Given the description of an element on the screen output the (x, y) to click on. 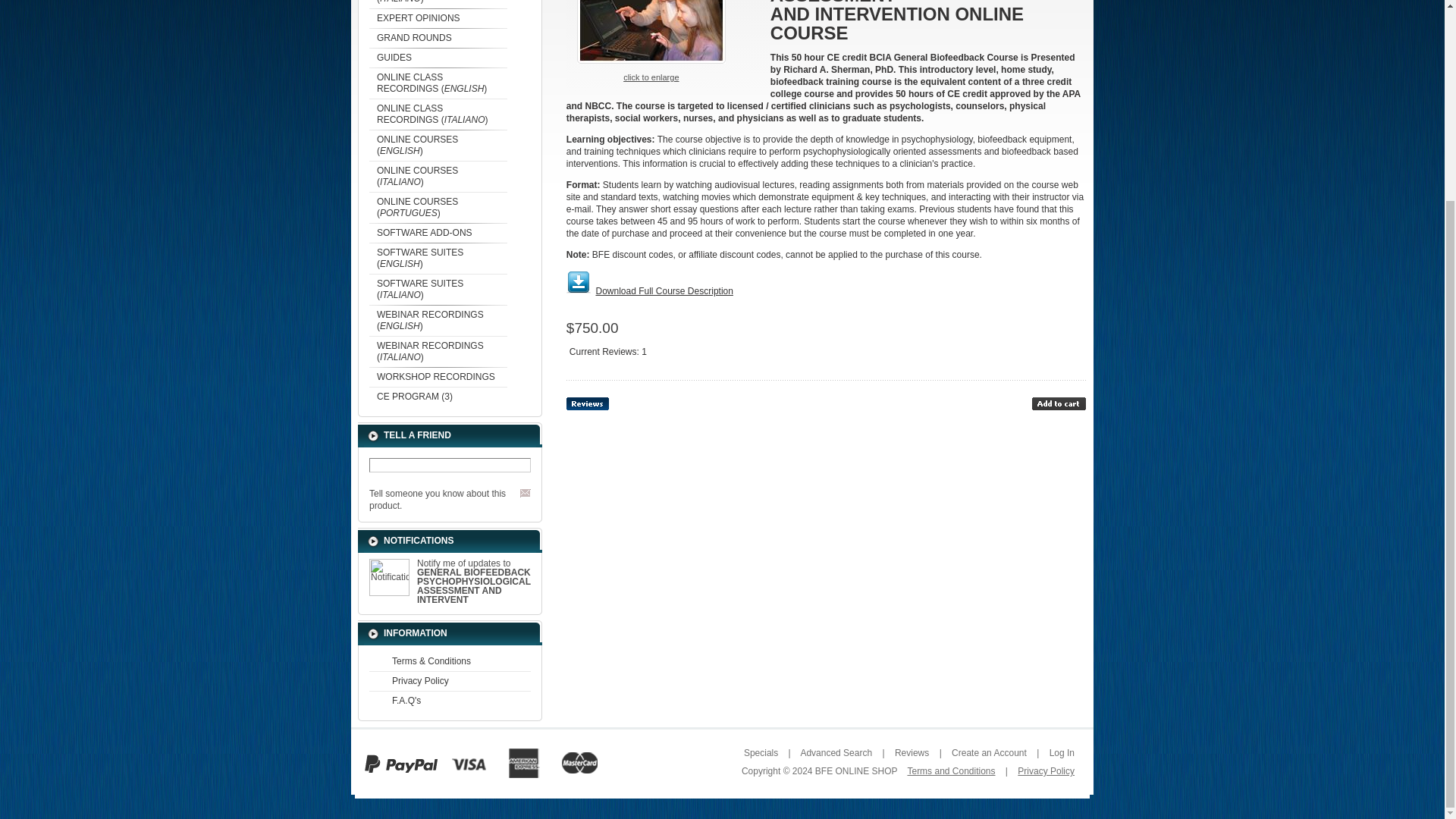
Privacy Policy (450, 680)
SOFTWARE ADD-ONS (437, 232)
 Reviews  (587, 403)
GRAND ROUNDS (437, 37)
GUIDES (437, 57)
WORKSHOP RECORDINGS (437, 376)
 Tell A Friend  (525, 492)
 Notifications  (389, 577)
F.A.Q's (450, 700)
EXPERT OPINIONS (437, 17)
 Add to Shopping Cart  (1059, 403)
